Given the description of an element on the screen output the (x, y) to click on. 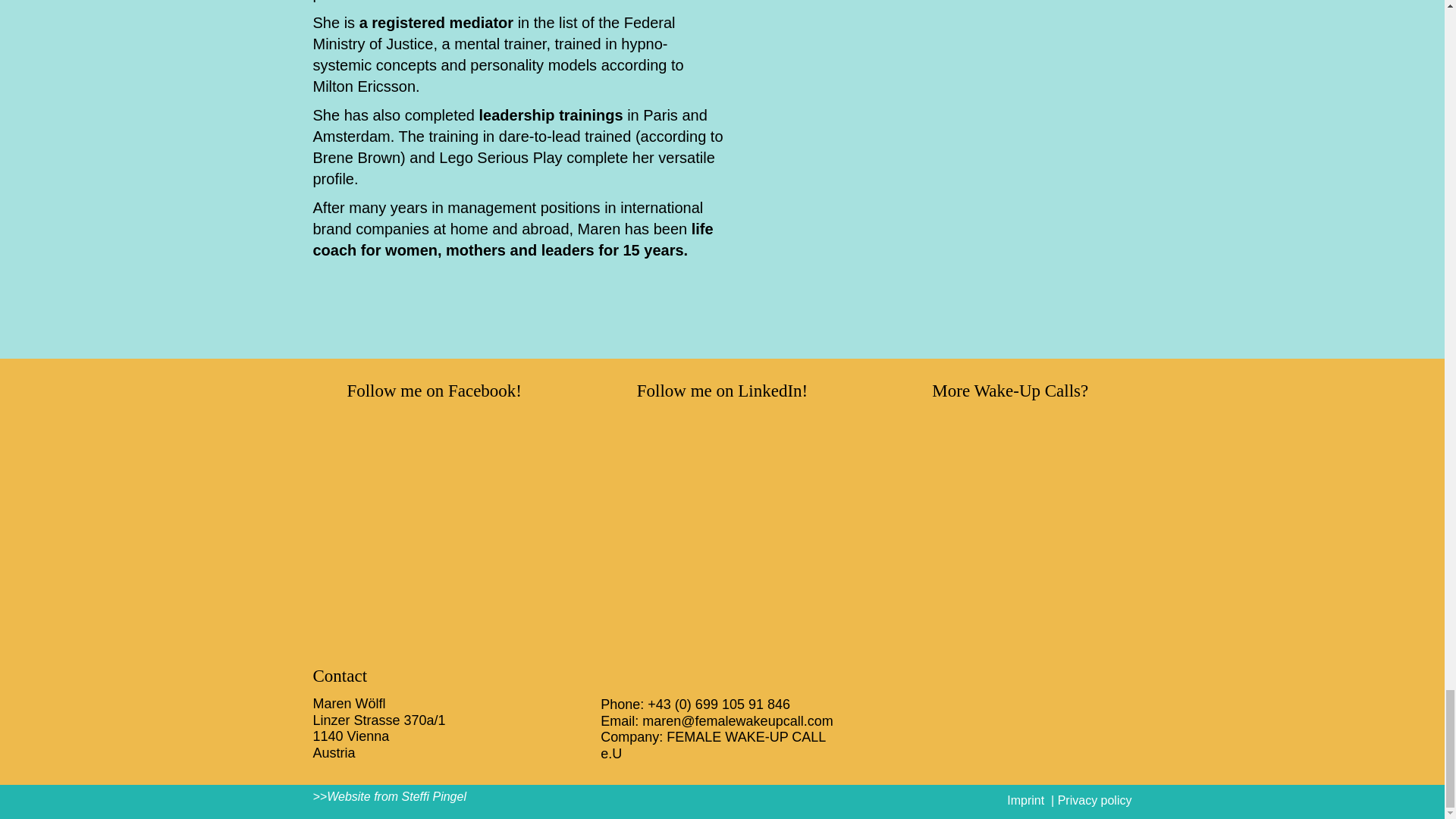
Imprint (1025, 799)
facebook (434, 520)
Privacy policy (1095, 799)
newsletter (1010, 520)
